Given the description of an element on the screen output the (x, y) to click on. 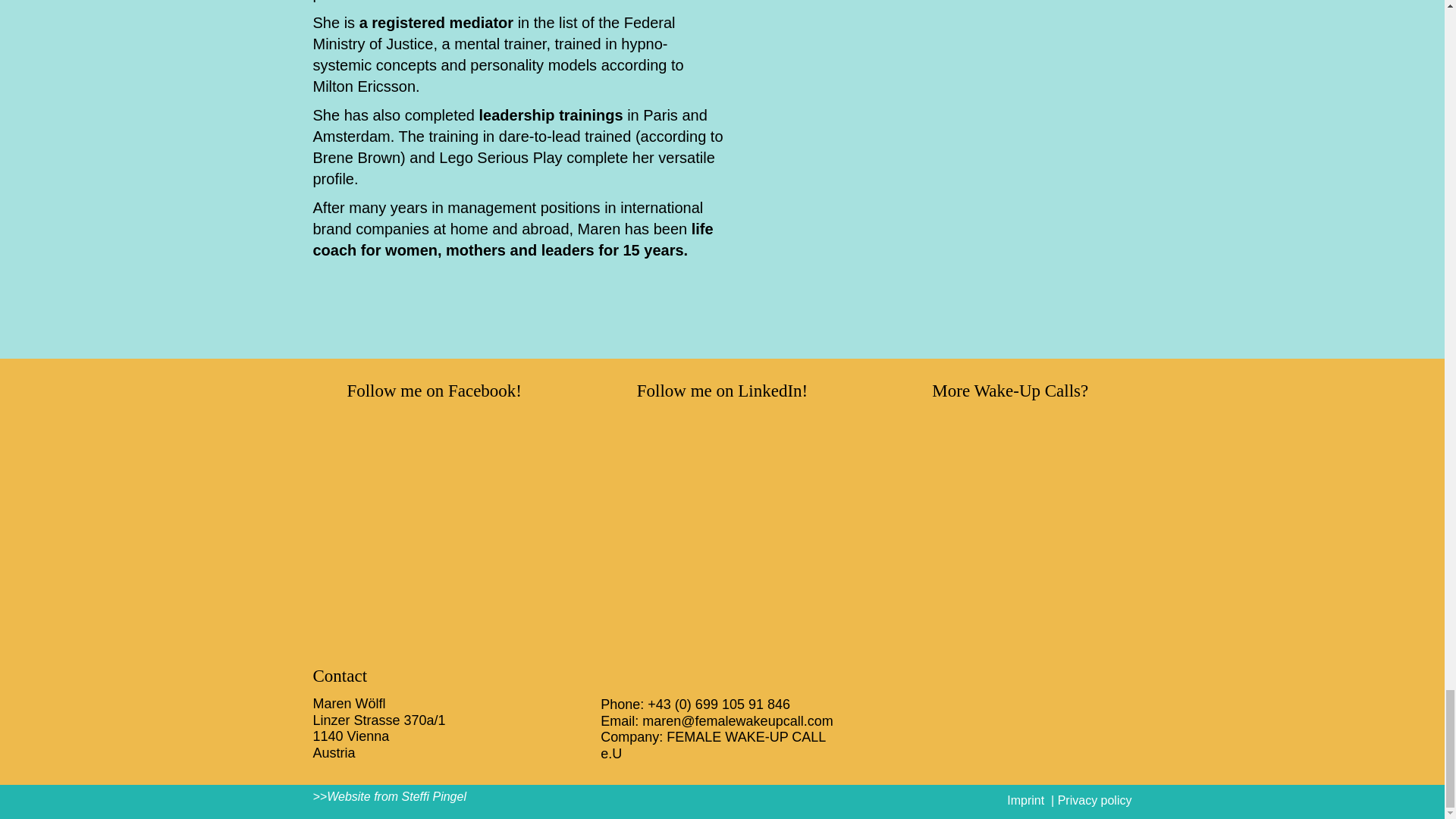
Imprint (1025, 799)
facebook (434, 520)
Privacy policy (1095, 799)
newsletter (1010, 520)
